Given the description of an element on the screen output the (x, y) to click on. 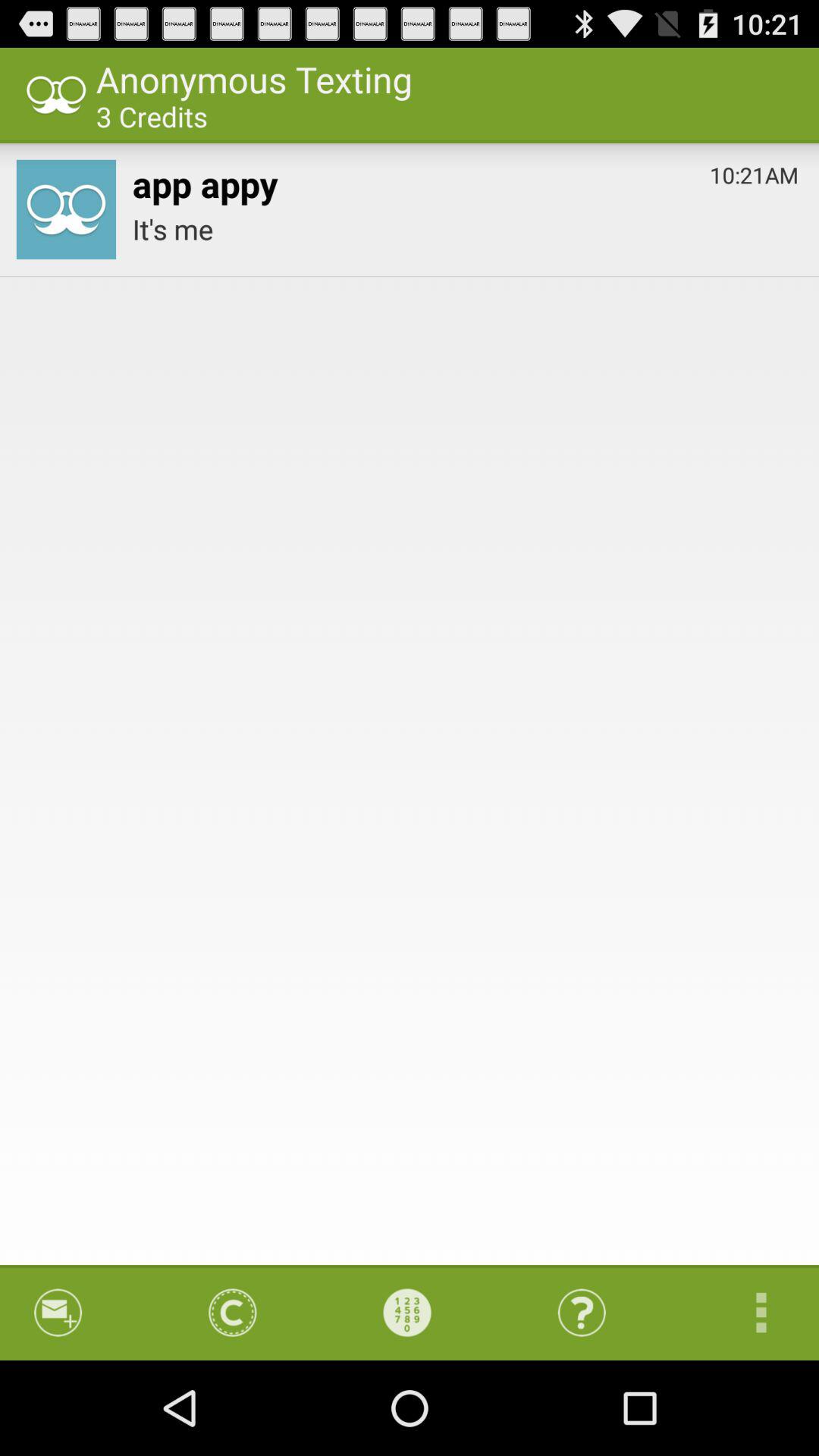
press the icon next to the 10:21am icon (205, 180)
